Given the description of an element on the screen output the (x, y) to click on. 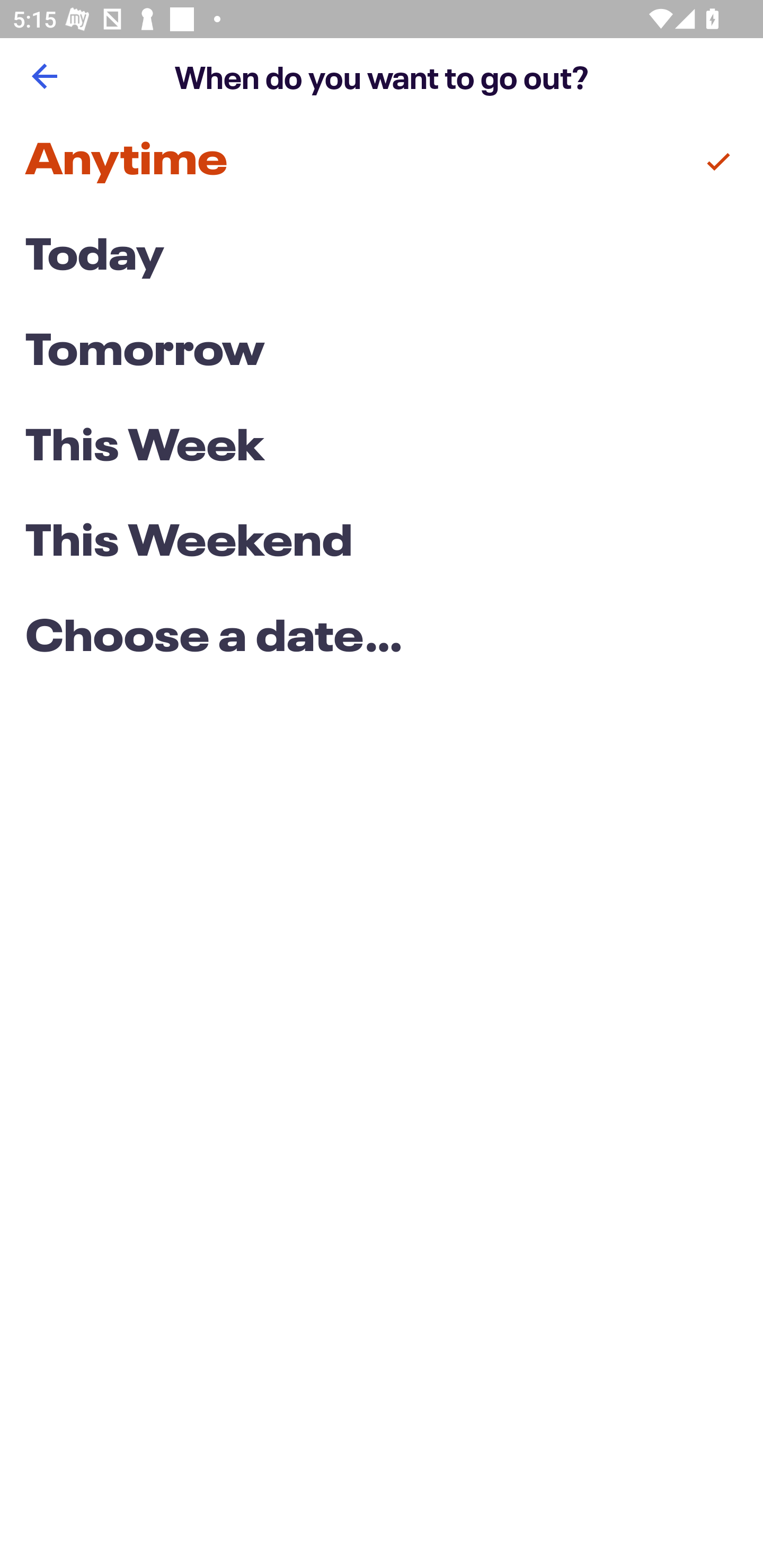
Back button (44, 75)
Anytime (381, 161)
Today (381, 257)
Tomorrow (381, 352)
This Week (381, 447)
This Weekend (381, 542)
Choose a date… (381, 638)
